Given the description of an element on the screen output the (x, y) to click on. 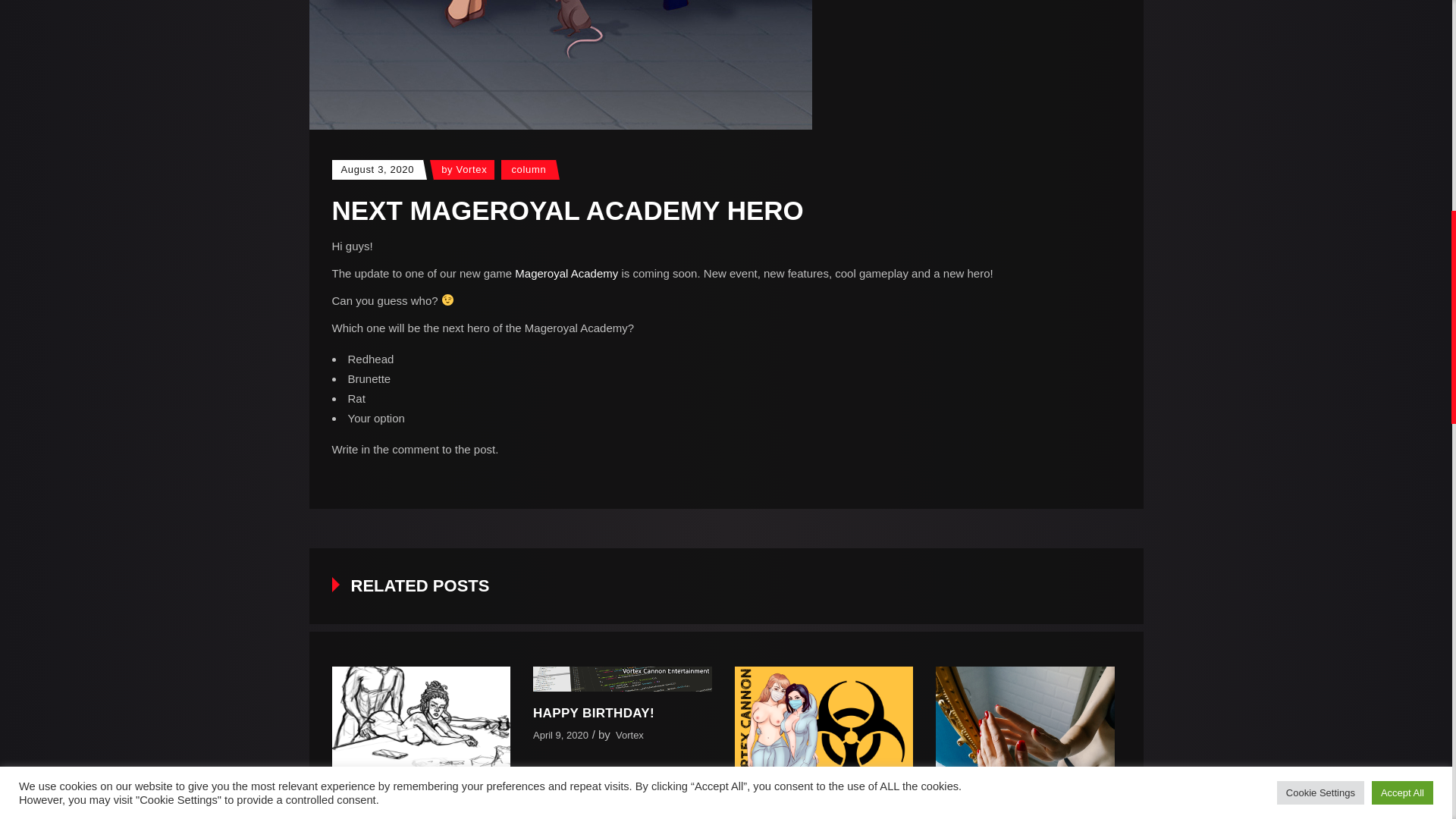
March Giveaway (1025, 742)
Happy Birthday! (592, 712)
Happy Birthday! (621, 678)
